Given the description of an element on the screen output the (x, y) to click on. 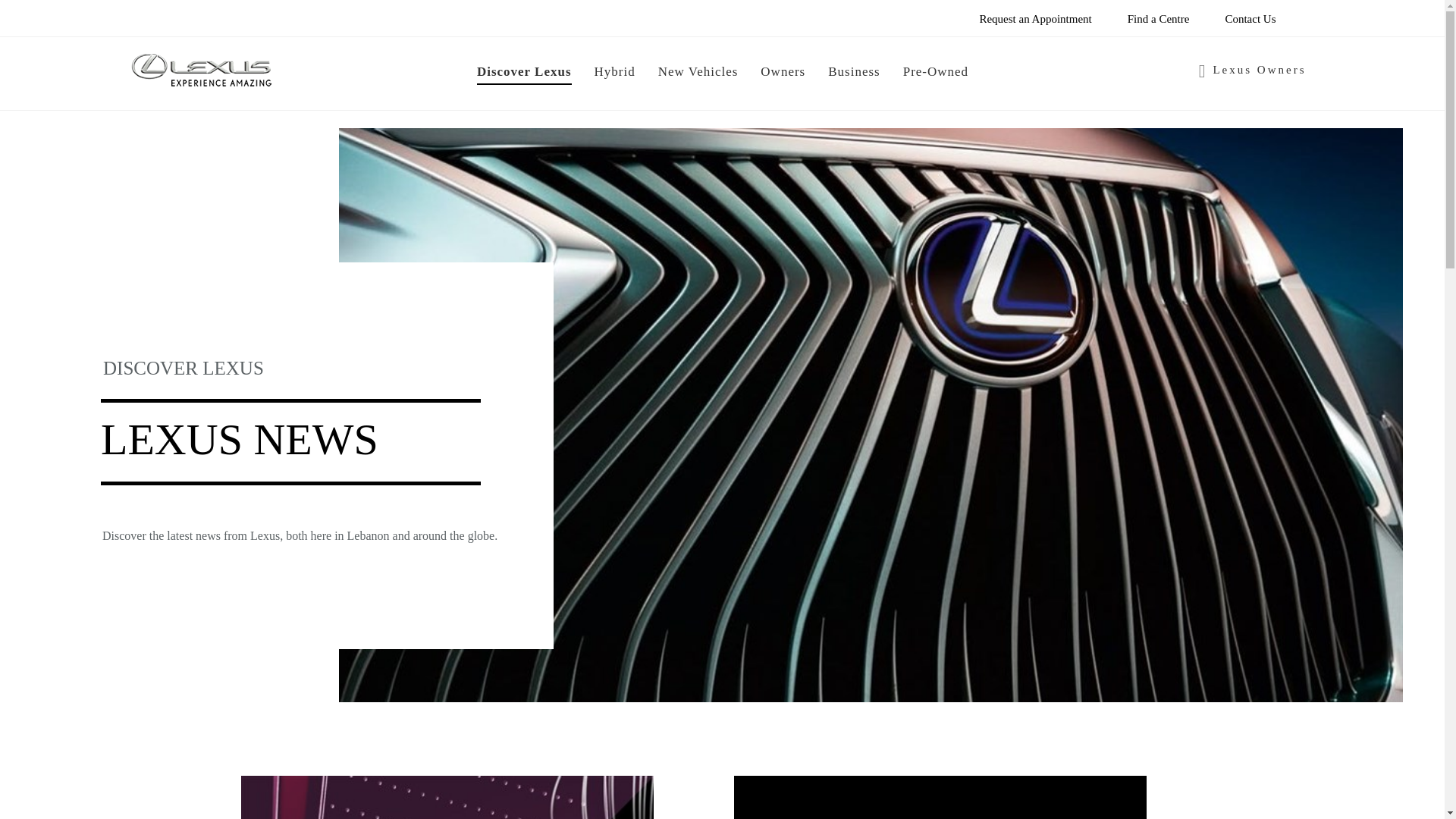
Owners (782, 73)
Hybrid (614, 73)
Lexus Owners (1252, 70)
Contact Us (1249, 18)
Discover Lexus (524, 74)
Find a Centre (1158, 18)
Business (853, 73)
Pre-Owned (935, 73)
New Vehicles (698, 73)
Request an Appointment (1034, 18)
